Given the description of an element on the screen output the (x, y) to click on. 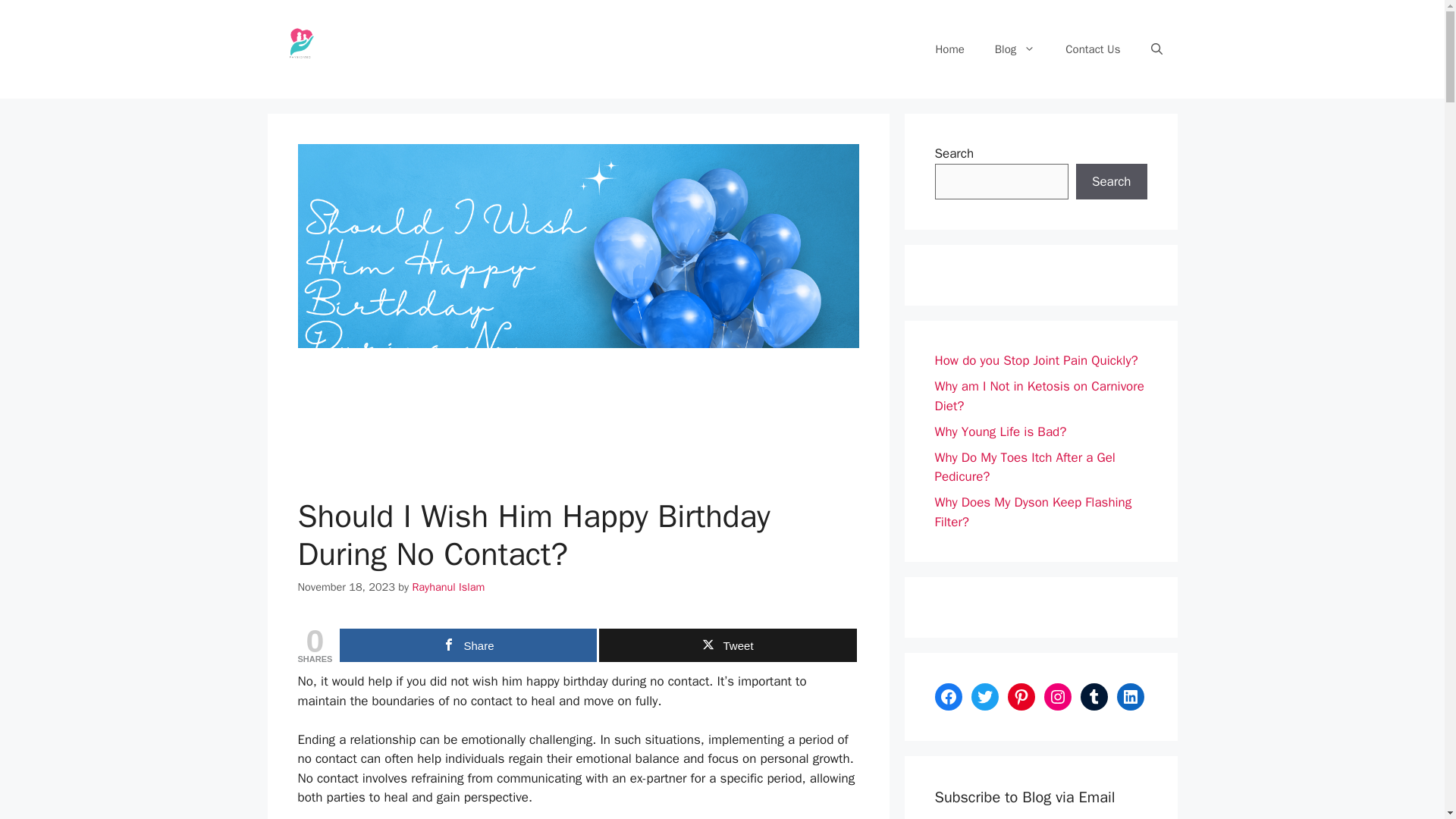
Rayhanul Islam (448, 586)
Share (467, 644)
Tweet (727, 644)
View all posts by Rayhanul Islam (448, 586)
Home (949, 49)
Blog (1014, 49)
Contact Us (1092, 49)
